Given the description of an element on the screen output the (x, y) to click on. 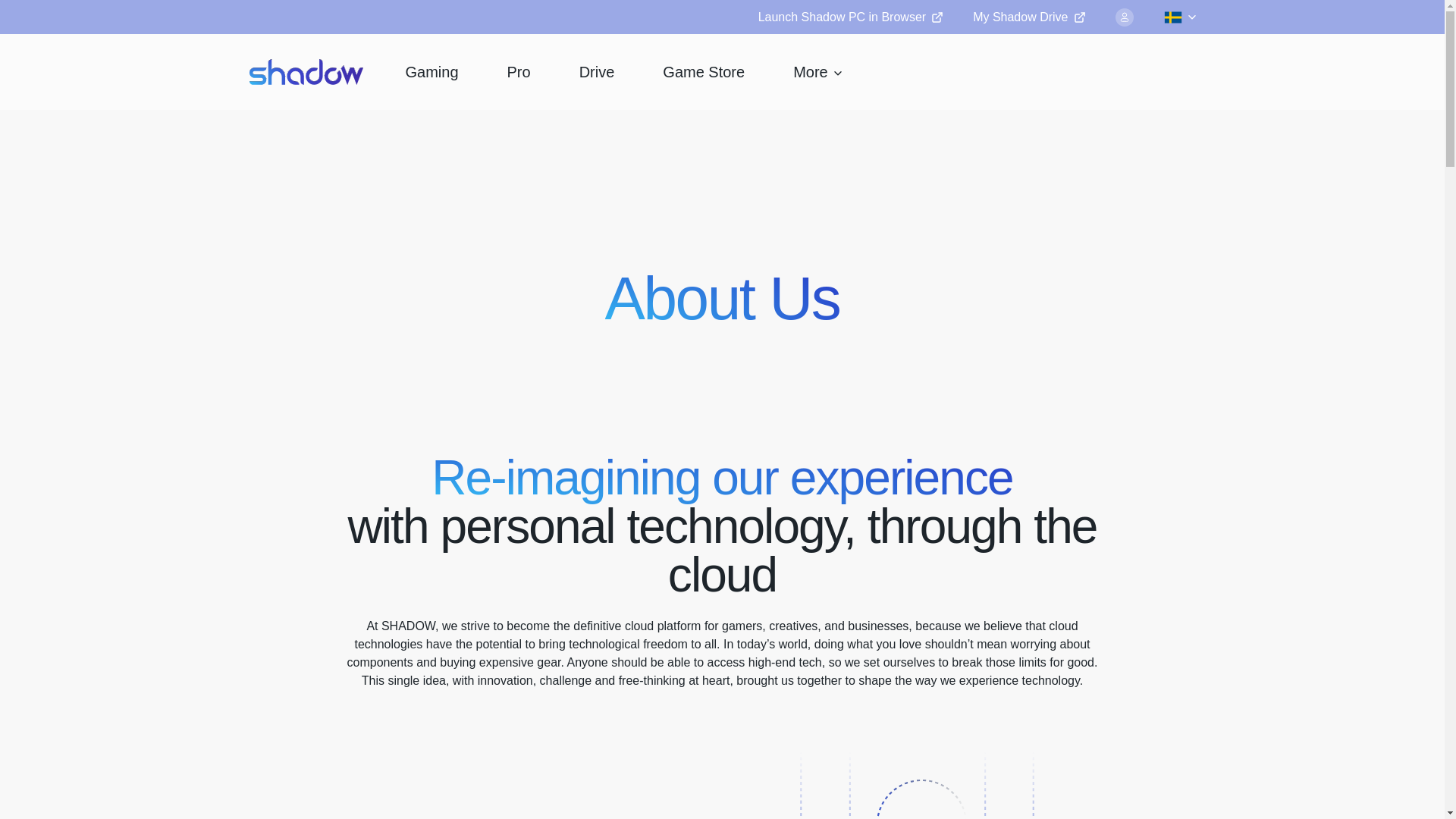
Game Store (703, 71)
Drive (597, 71)
Launch Shadow PC in Browser (850, 17)
My Shadow Drive (1028, 17)
My Shadow Drive (1028, 17)
Gaming (431, 71)
Pro (519, 71)
More (816, 71)
Launch Shadow PC in Browser (850, 17)
